Given the description of an element on the screen output the (x, y) to click on. 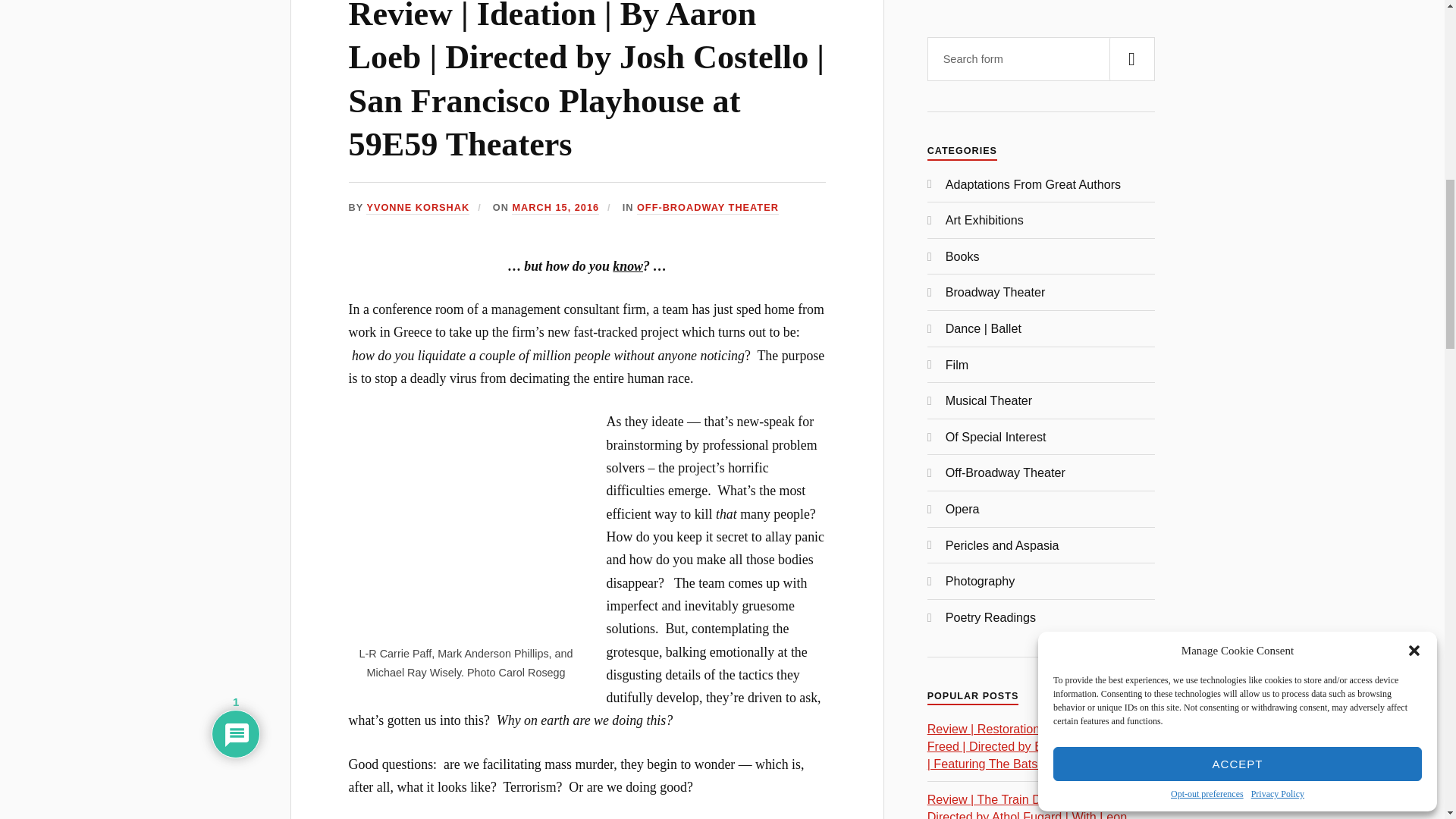
OFF-BROADWAY THEATER (707, 207)
Posts by Yvonne Korshak (417, 207)
YVONNE KORSHAK (417, 207)
MARCH 15, 2016 (555, 207)
